Given the description of an element on the screen output the (x, y) to click on. 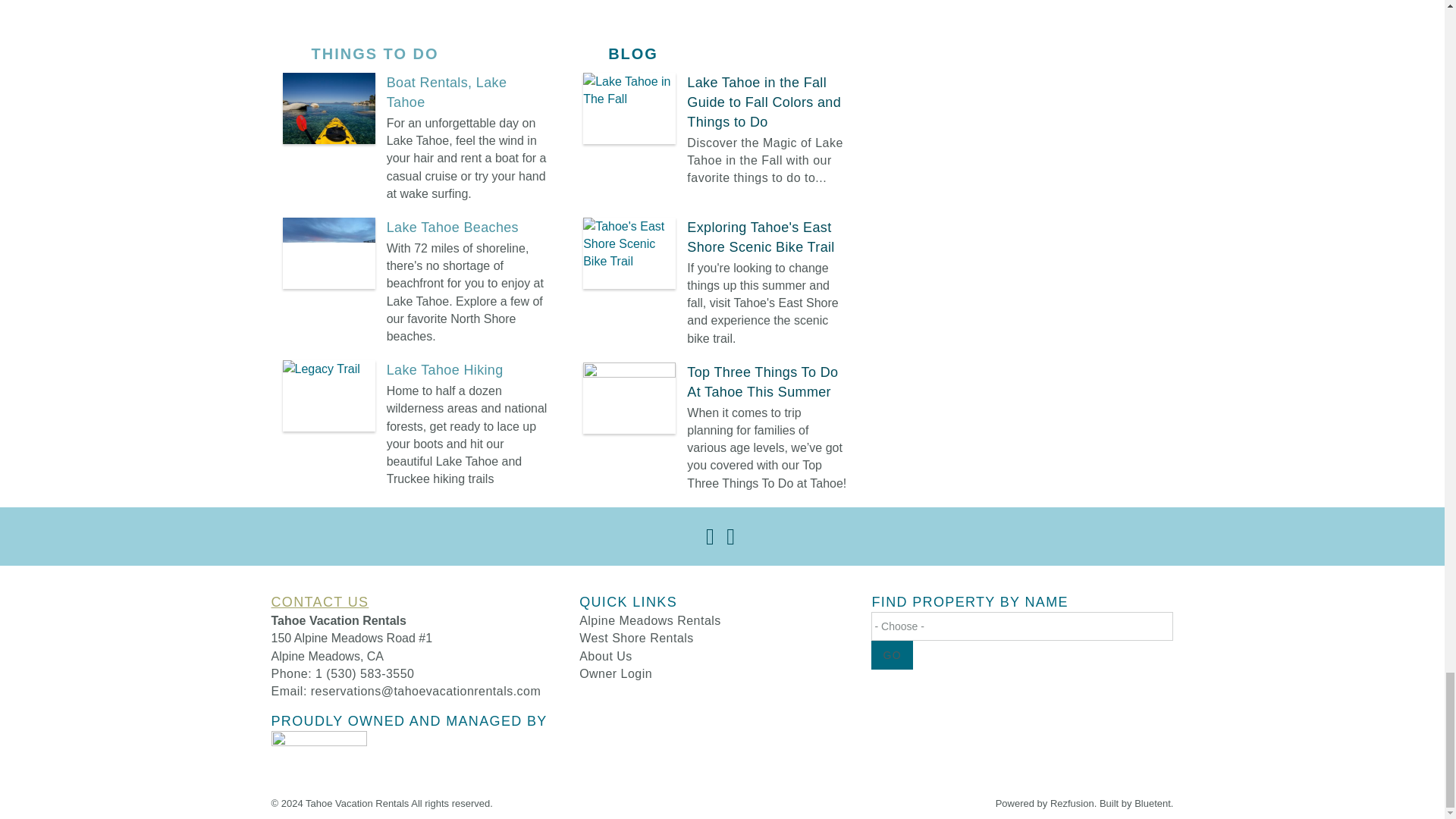
kayaking (328, 108)
Legacy Trail (328, 395)
Proudly owned by Granite Peak Management (318, 753)
